Given the description of an element on the screen output the (x, y) to click on. 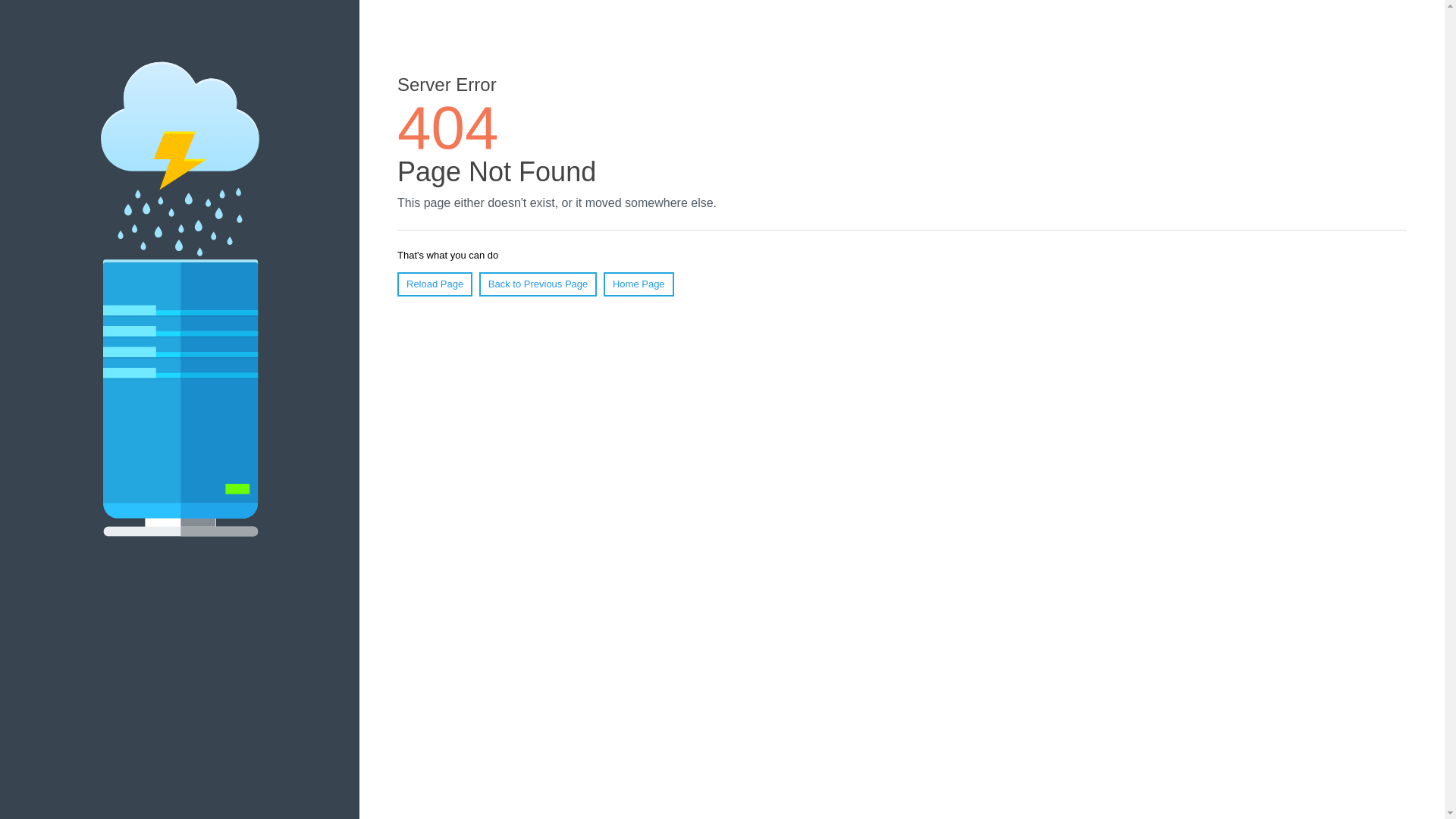
Reload Page Element type: text (434, 284)
Home Page Element type: text (638, 284)
Back to Previous Page Element type: text (538, 284)
